Given the description of an element on the screen output the (x, y) to click on. 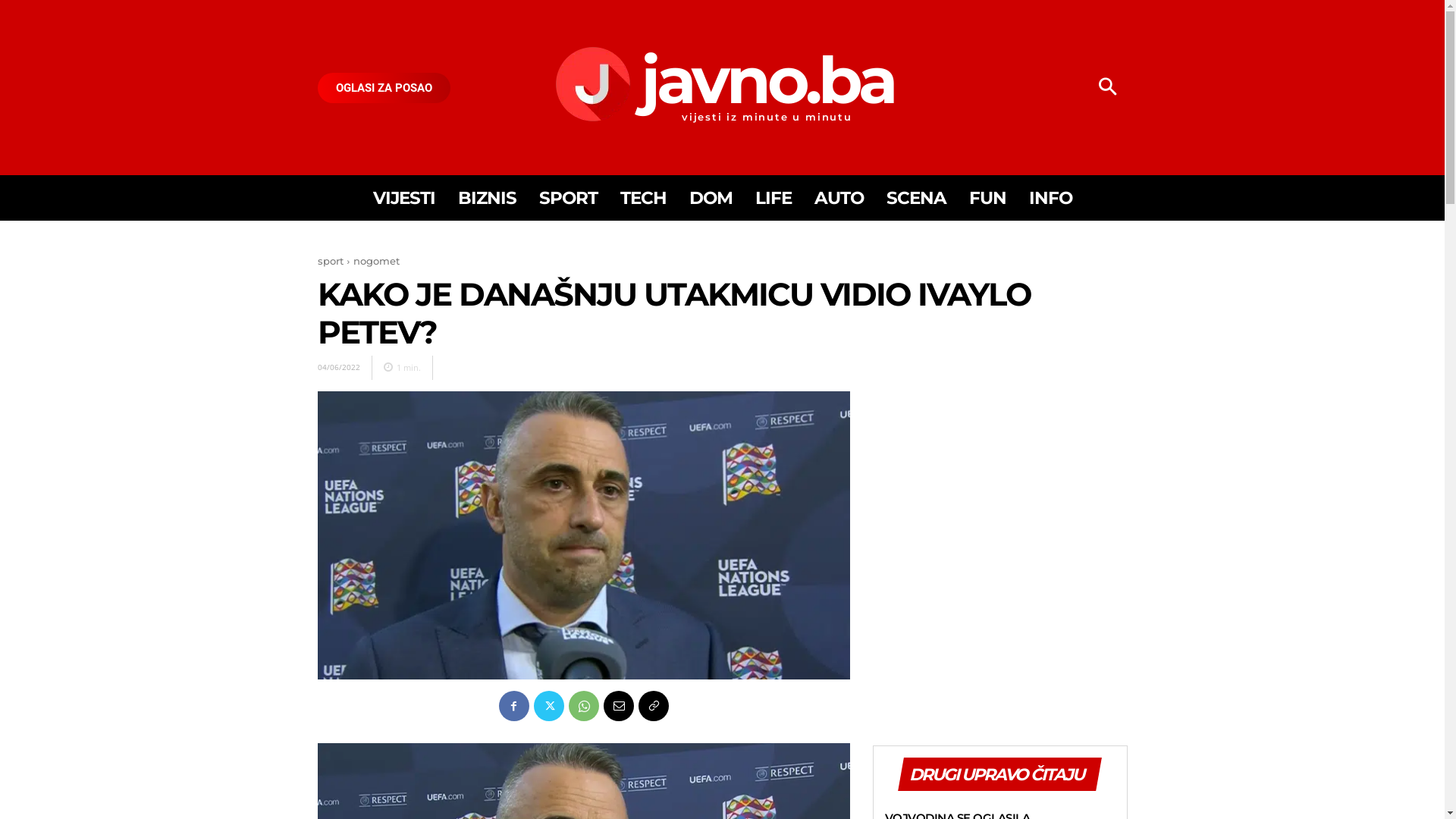
Facebook Element type: hover (513, 705)
AUTO Element type: text (838, 197)
SCENA Element type: text (915, 197)
INFO Element type: text (1049, 197)
Copy URL Element type: hover (653, 705)
nogomet Element type: text (376, 260)
OGLASI ZA POSAO Element type: text (382, 87)
BIZNIS Element type: text (487, 197)
FUN Element type: text (987, 197)
WhatsApp Element type: hover (583, 705)
SPORT Element type: text (567, 197)
Twitter Element type: hover (548, 705)
LIFE Element type: text (773, 197)
javno.ba
vijesti iz minute u minutu Element type: text (722, 83)
Email Element type: hover (618, 705)
DOM Element type: text (709, 197)
TECH Element type: text (643, 197)
VIJESTI Element type: text (404, 197)
sport Element type: text (329, 260)
